Given the description of an element on the screen output the (x, y) to click on. 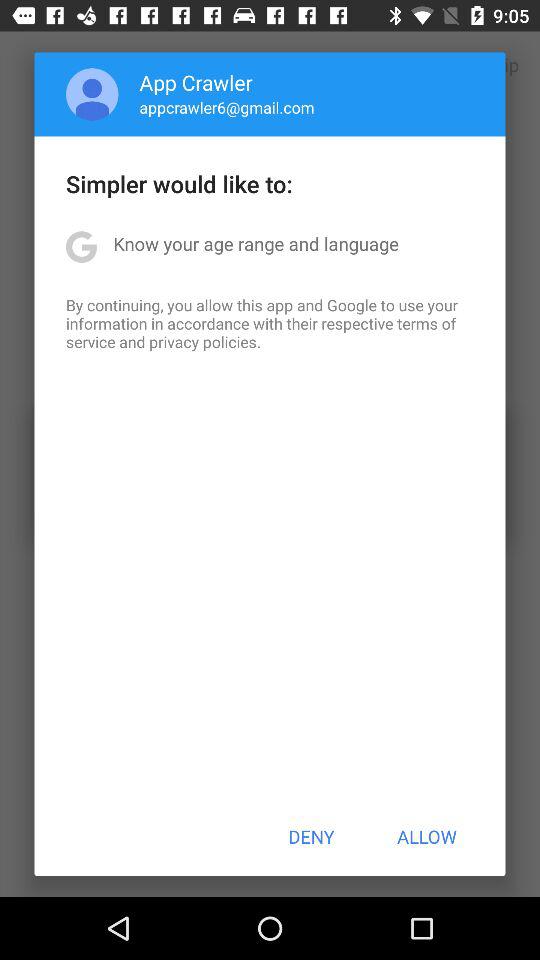
turn on app to the left of the app crawler app (92, 94)
